Given the description of an element on the screen output the (x, y) to click on. 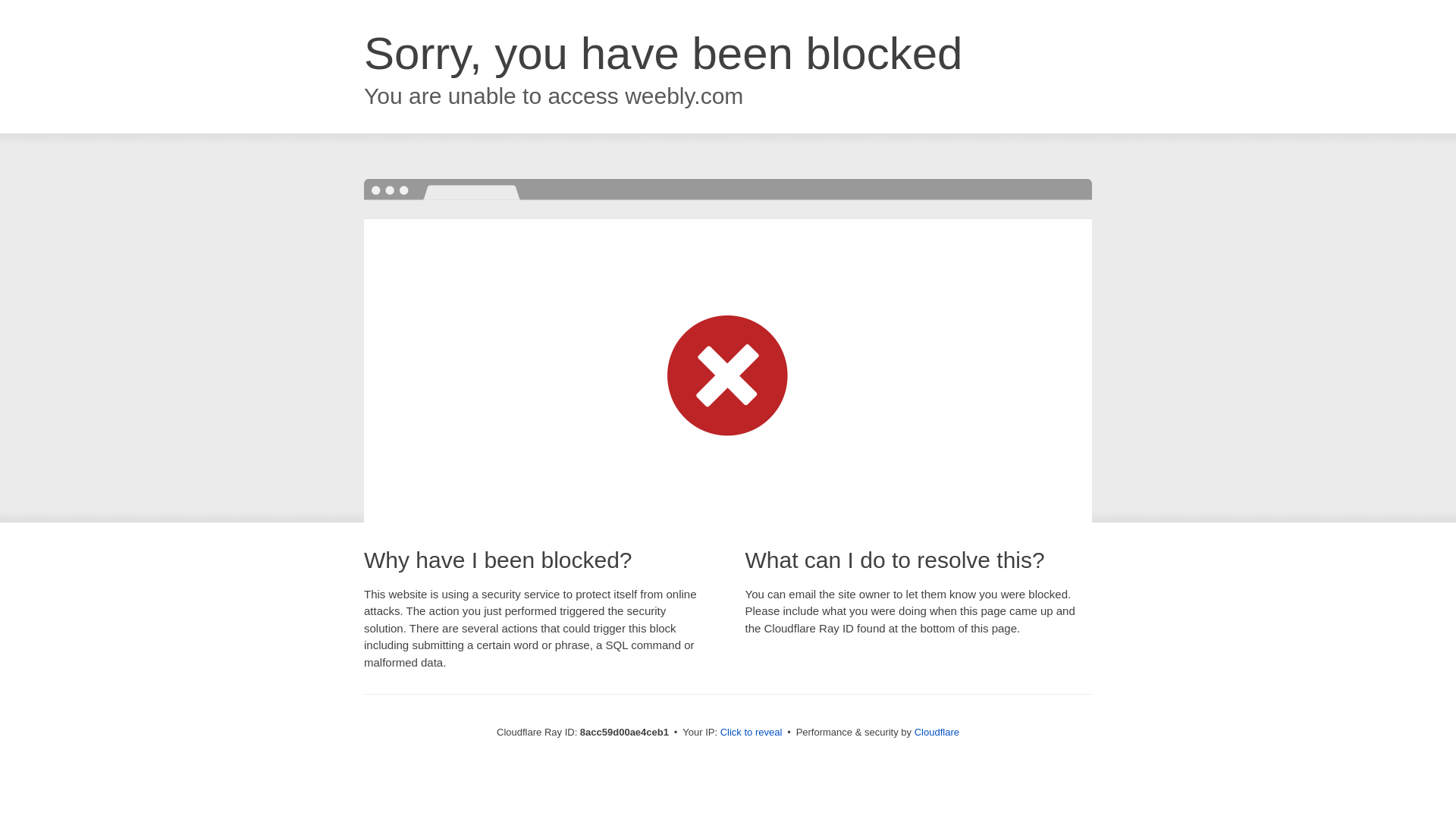
Cloudflare (936, 731)
Click to reveal (751, 732)
